Given the description of an element on the screen output the (x, y) to click on. 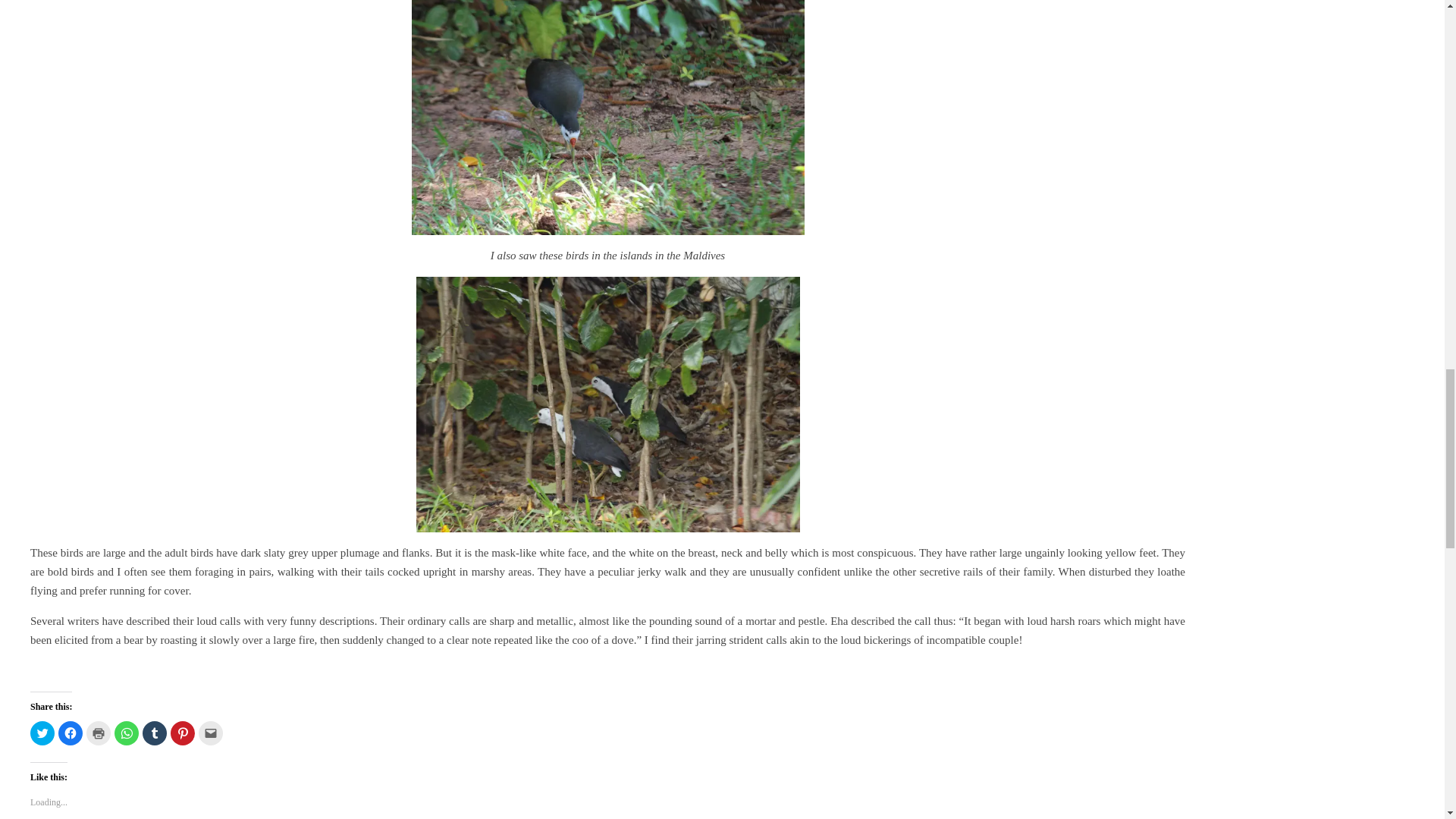
Click to share on WhatsApp (126, 733)
Click to print (97, 733)
Click to share on Pinterest (182, 733)
Click to share on Twitter (42, 733)
Click to share on Tumblr (154, 733)
Click to email this to a friend (210, 733)
Click to share on Facebook (70, 733)
